Given the description of an element on the screen output the (x, y) to click on. 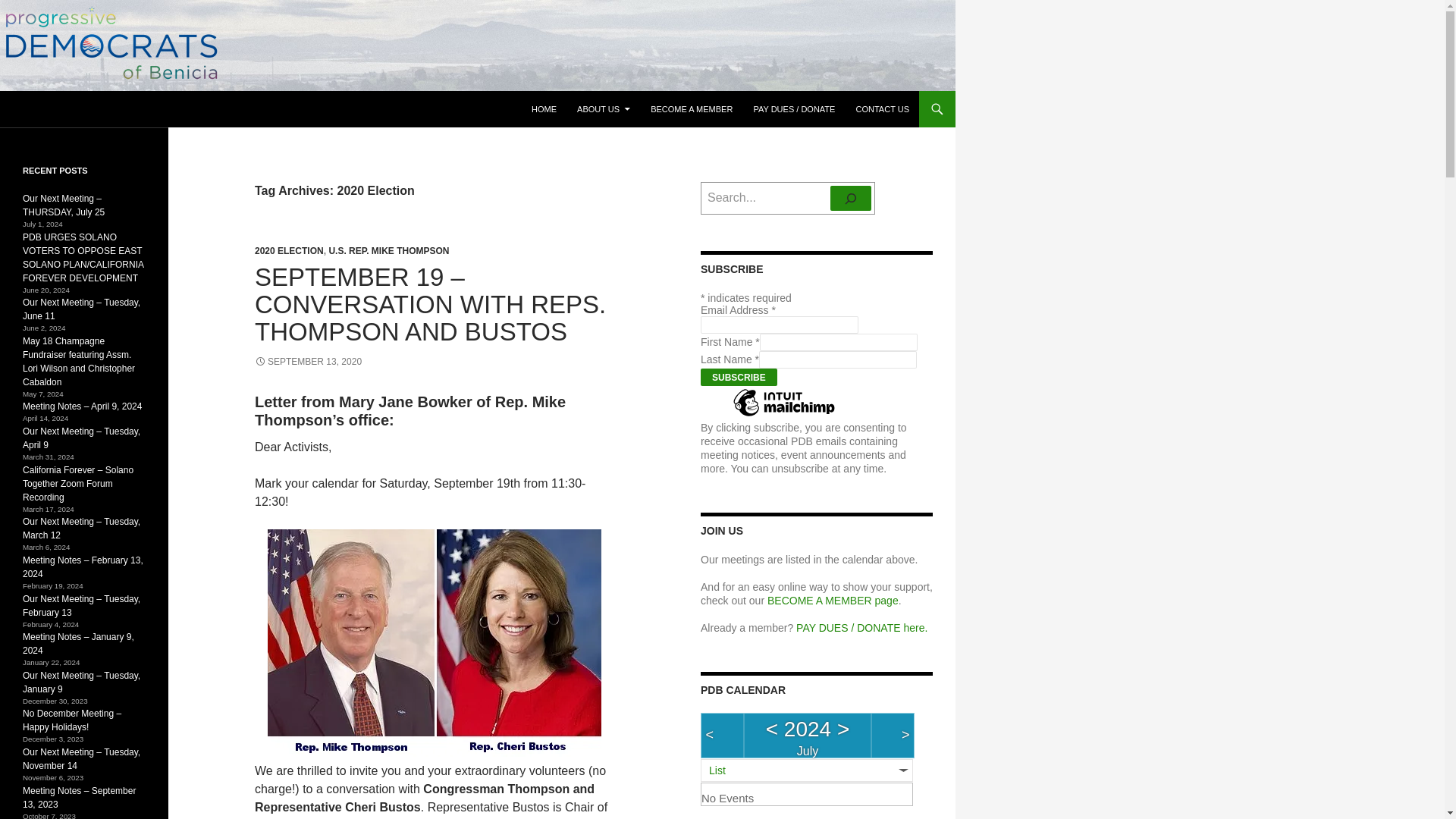
2020 ELECTION (288, 250)
Progressive Democrats of Benicia (133, 108)
CONTACT US (881, 108)
Subscribe (738, 376)
SEPTEMBER 13, 2020 (307, 361)
U.S. REP. MIKE THOMPSON (388, 250)
Mailchimp - email marketing made easy and fun (783, 415)
BECOME A MEMBER (691, 108)
ABOUT US (603, 108)
HOME (544, 108)
